Given the description of an element on the screen output the (x, y) to click on. 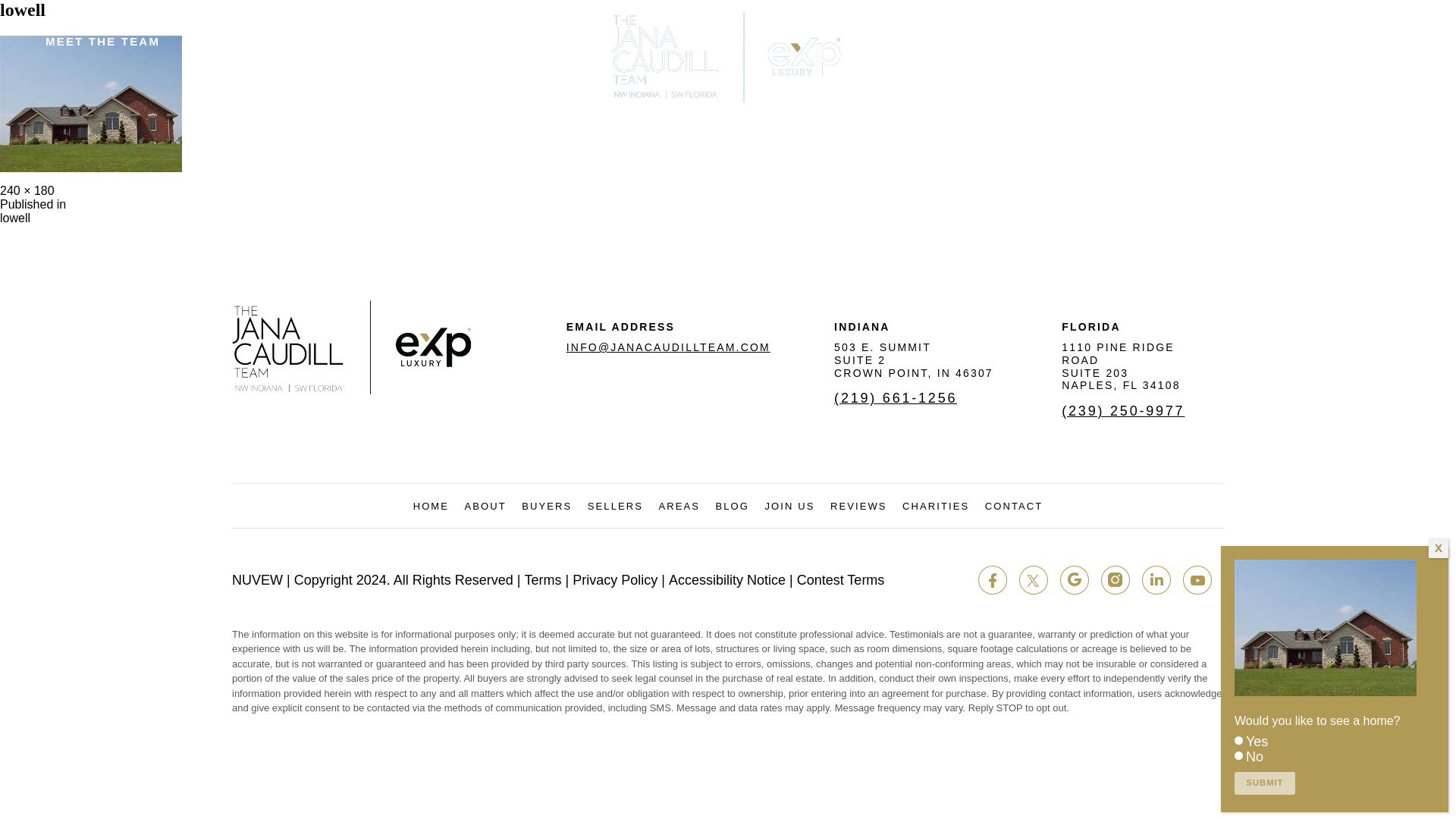
MEET THE TEAM (102, 43)
CONTACT (32, 211)
IN THE PRESS (1212, 43)
BUY A HOME (1091, 43)
MENU (242, 43)
SELL YOUR HOME (1389, 41)
LISTINGS (913, 360)
